Given the description of an element on the screen output the (x, y) to click on. 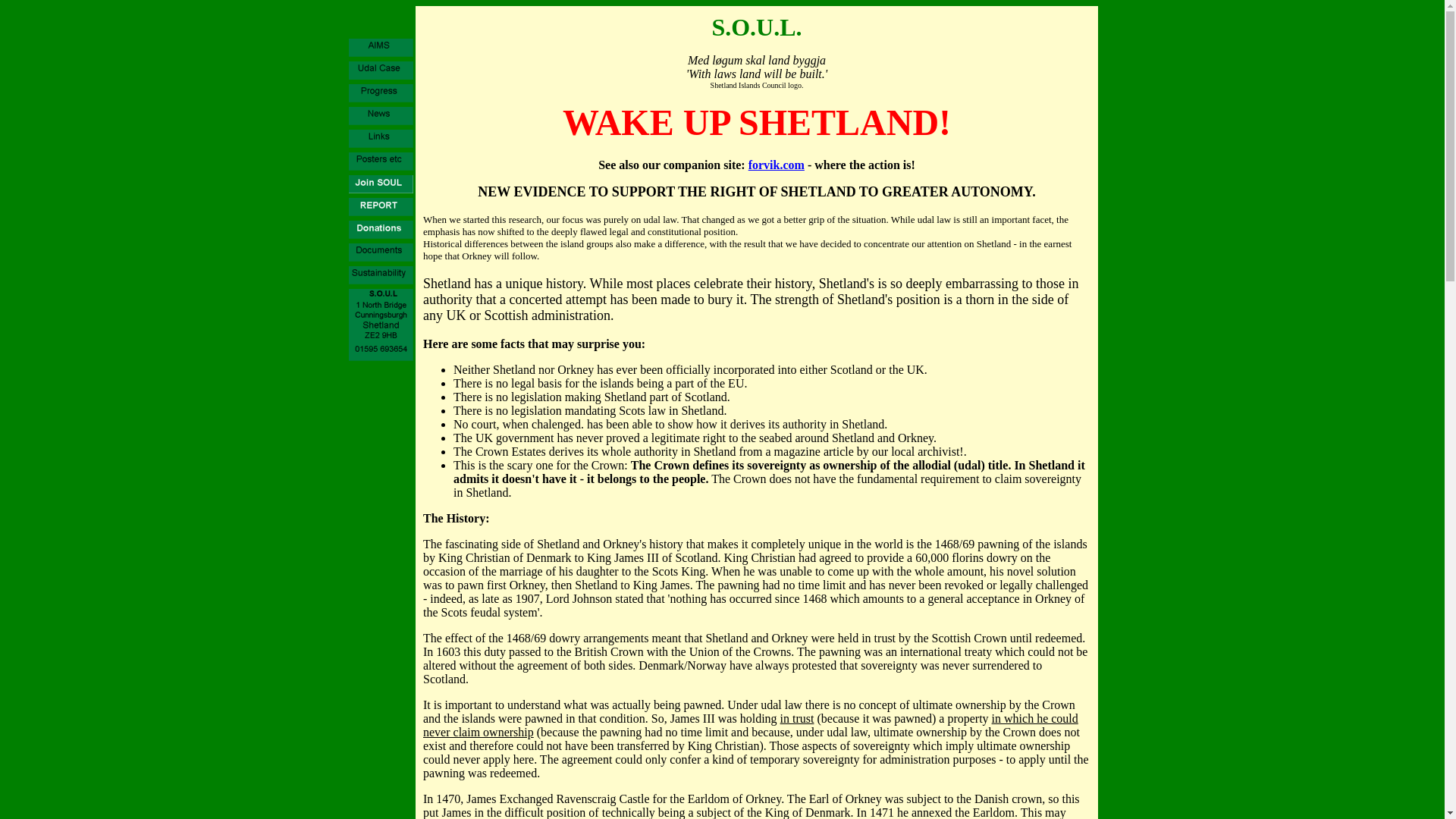
forvik.com (776, 164)
